Given the description of an element on the screen output the (x, y) to click on. 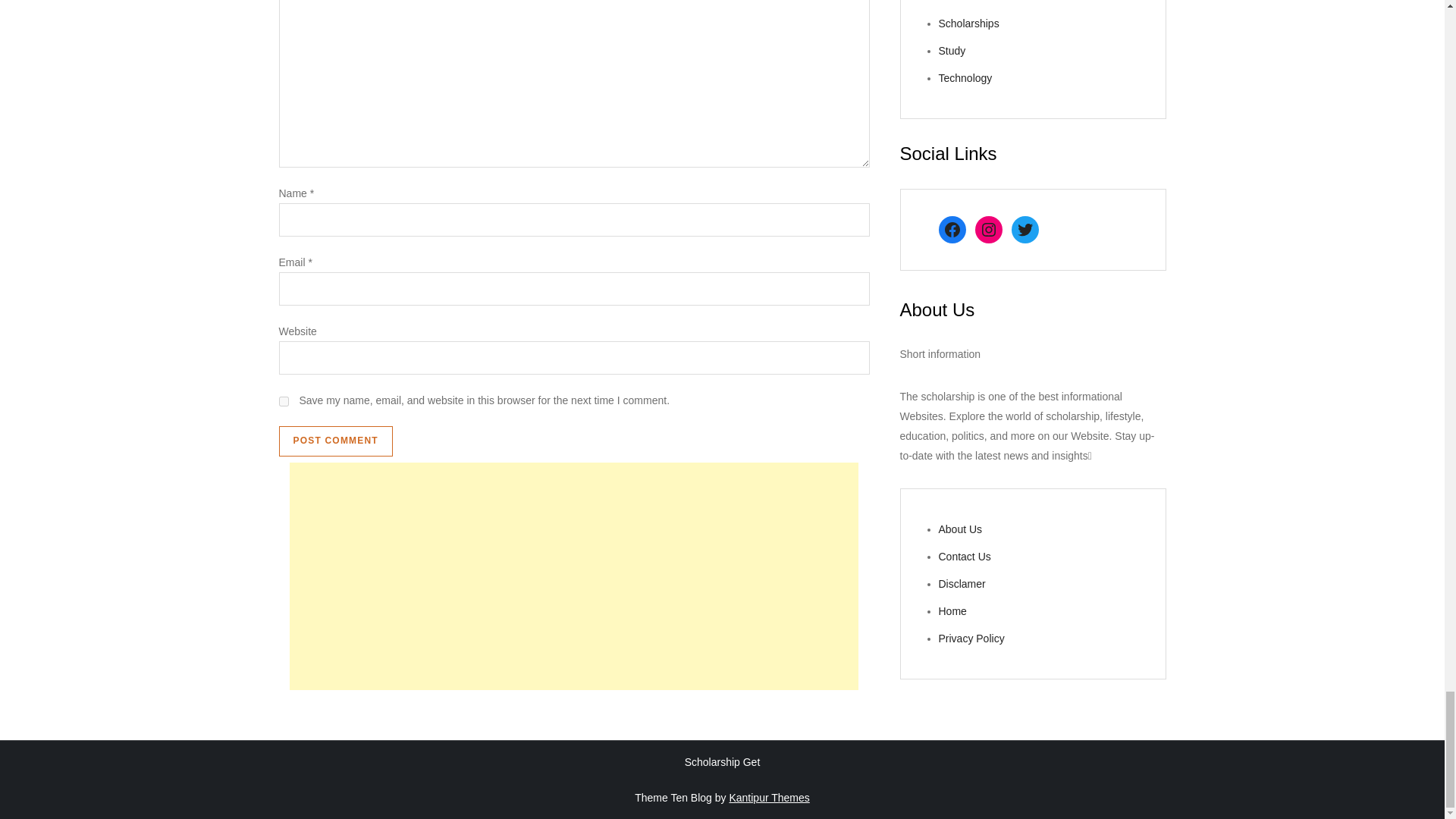
Post Comment (336, 440)
Post Comment (336, 440)
yes (283, 401)
